Given the description of an element on the screen output the (x, y) to click on. 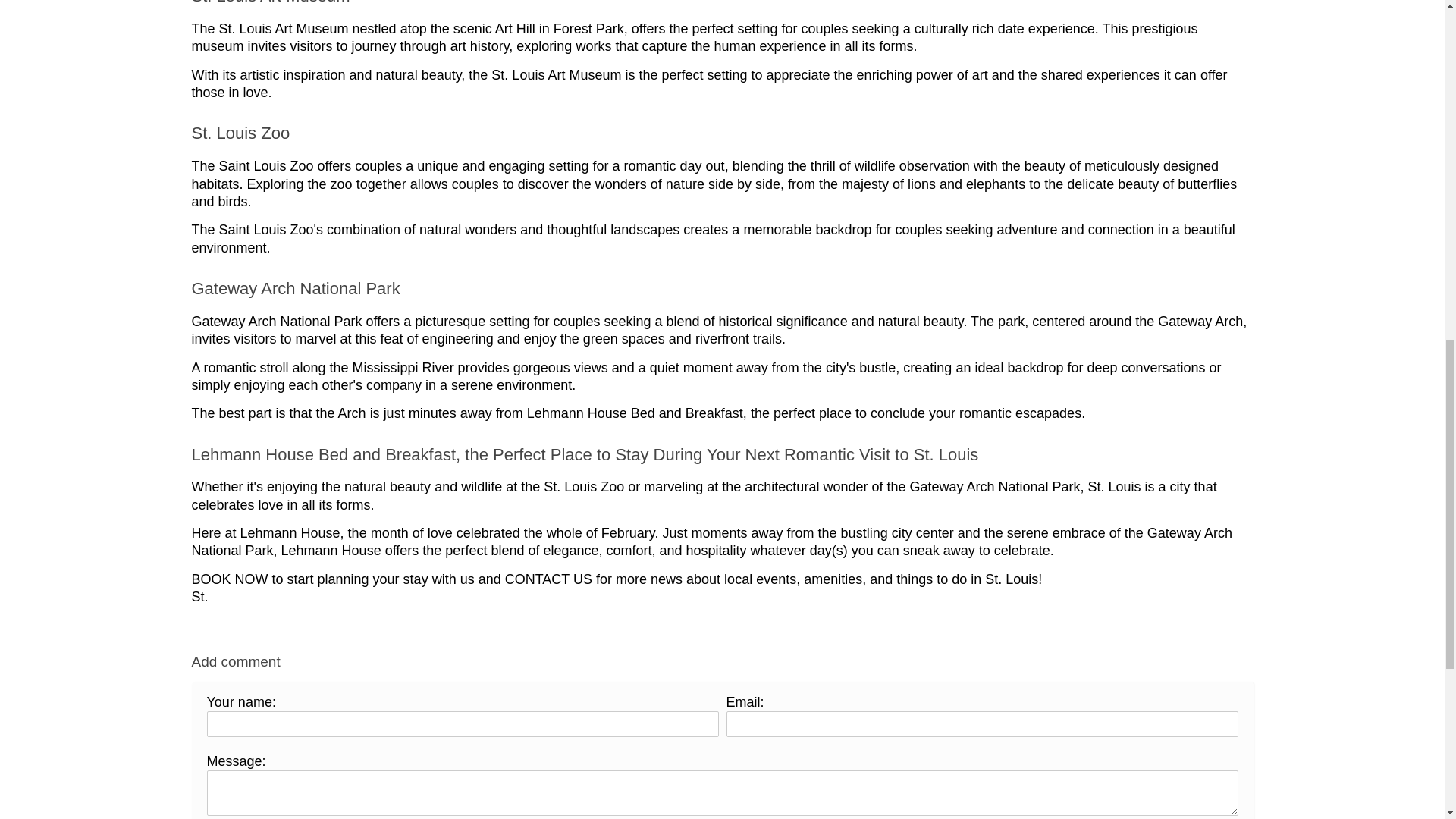
CONTACT US (548, 579)
BOOK NOW (228, 579)
Your name: (461, 724)
Email: (982, 724)
